Given the description of an element on the screen output the (x, y) to click on. 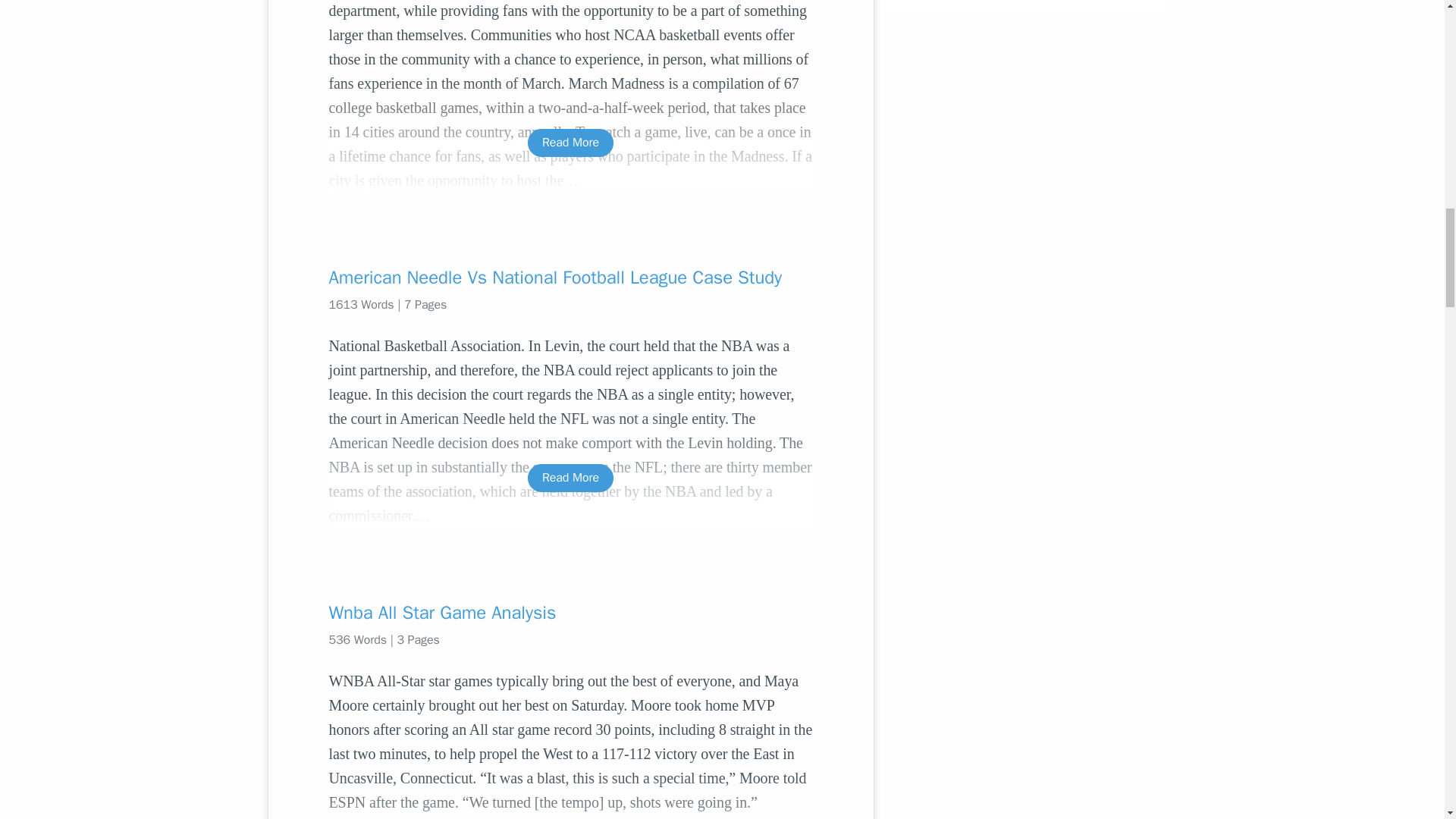
American Needle Vs National Football League Case Study (570, 277)
Read More (569, 142)
Read More (569, 478)
Wnba All Star Game Analysis (570, 612)
